Given the description of an element on the screen output the (x, y) to click on. 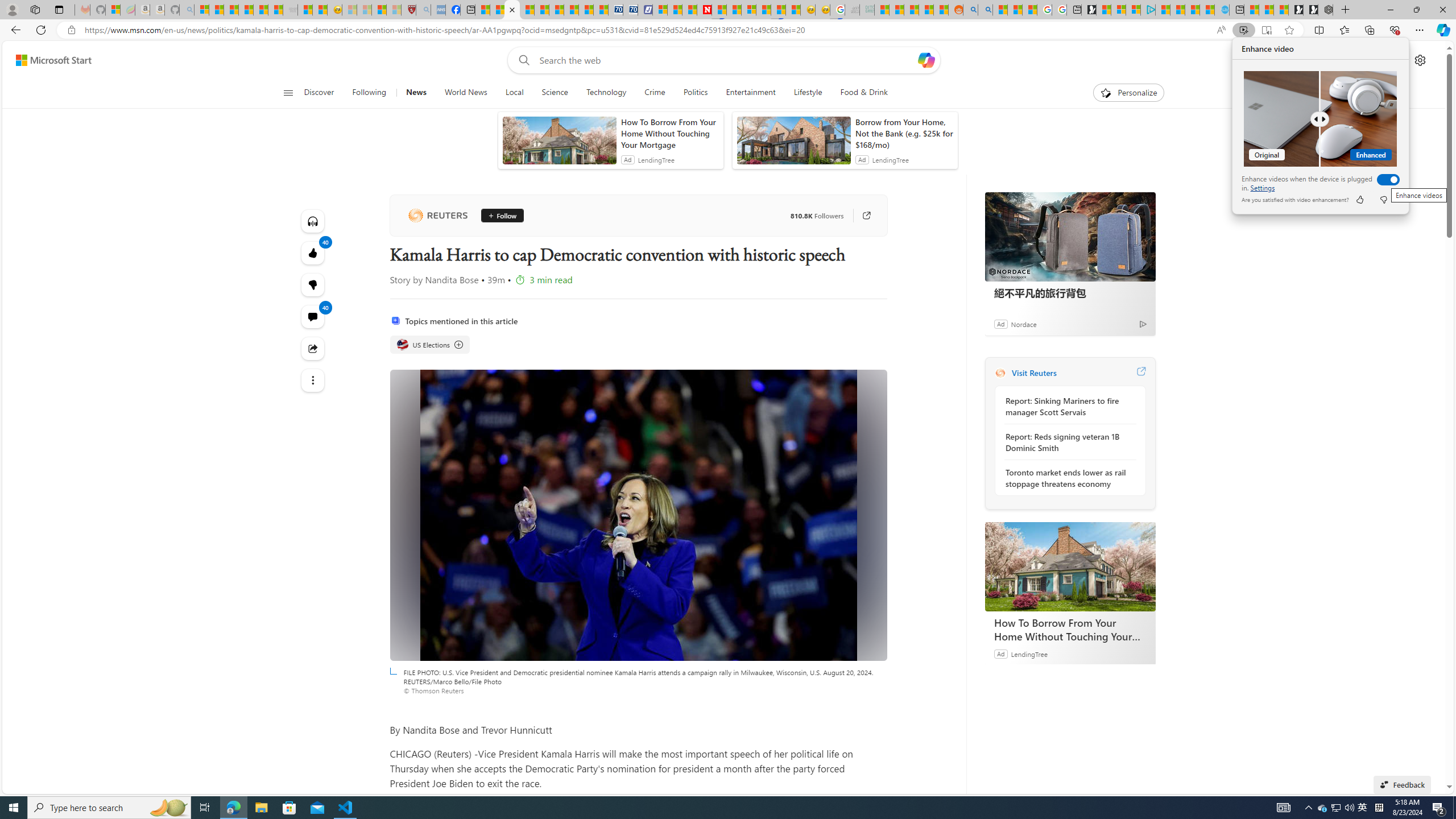
Tray Input Indicator - Chinese (Simplified, China) (1378, 807)
Workspaces (34, 9)
Combat Siege - Sleeping (290, 9)
Reuters (437, 215)
Skip to footer (46, 59)
Discover (323, 92)
DITOGAMES AG Imprint - Sleeping (866, 9)
Follow (502, 215)
Following (370, 92)
Open Copilot (925, 59)
Reuters (1000, 372)
View site information (70, 29)
Microsoft Start Gaming (1087, 9)
See more (312, 380)
